Given the description of an element on the screen output the (x, y) to click on. 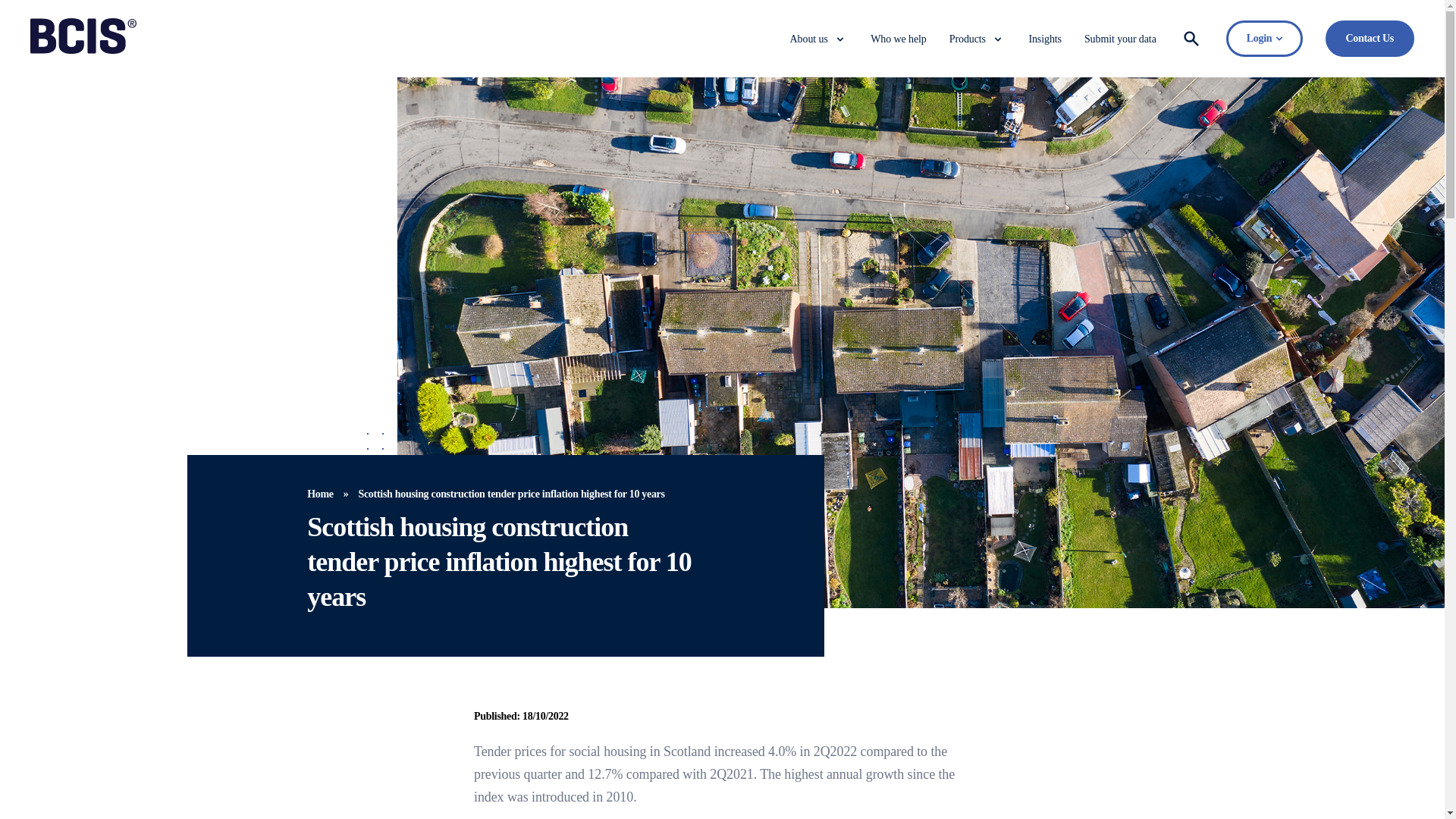
Login (1264, 38)
Products (967, 39)
Insights (1044, 39)
Contact Us (1369, 38)
BCIS logo (83, 49)
About us (809, 39)
BCIS logo (83, 36)
Submit your data (1120, 39)
Who we help (898, 39)
